Given the description of an element on the screen output the (x, y) to click on. 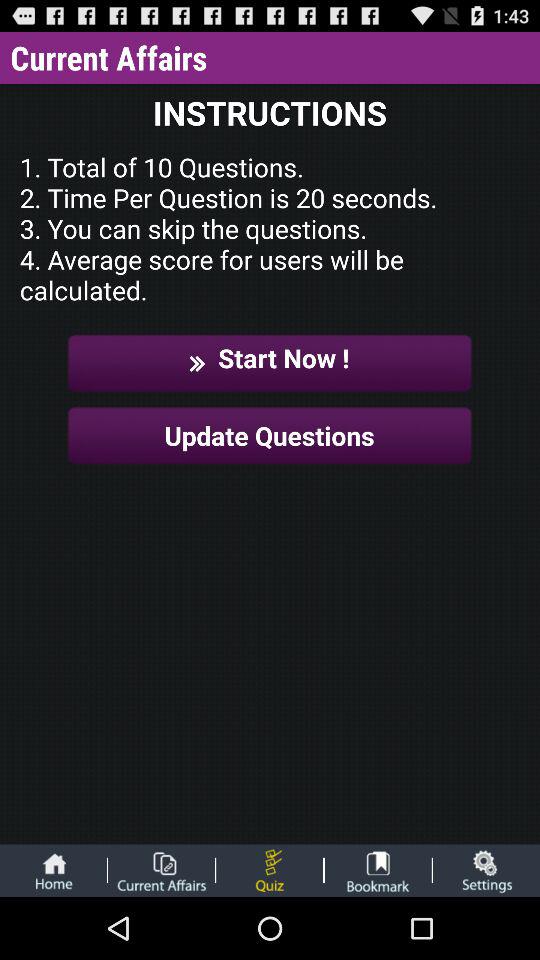
select bookmark (378, 870)
